Given the description of an element on the screen output the (x, y) to click on. 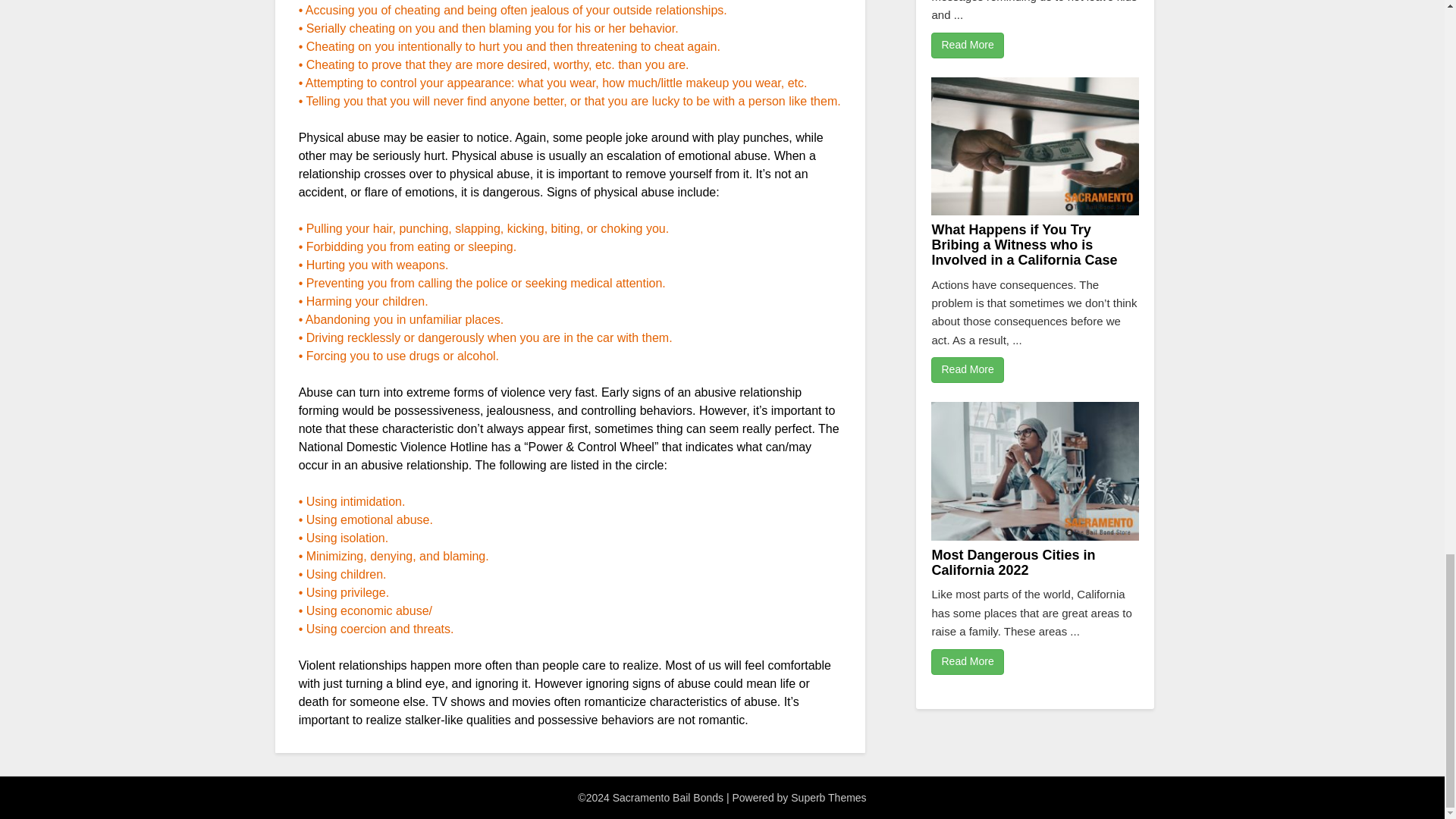
Most Dangerous Cities in California 2022 (1012, 562)
Read More (967, 370)
Read More (967, 45)
Superb Themes (828, 797)
Read More (967, 661)
